Given the description of an element on the screen output the (x, y) to click on. 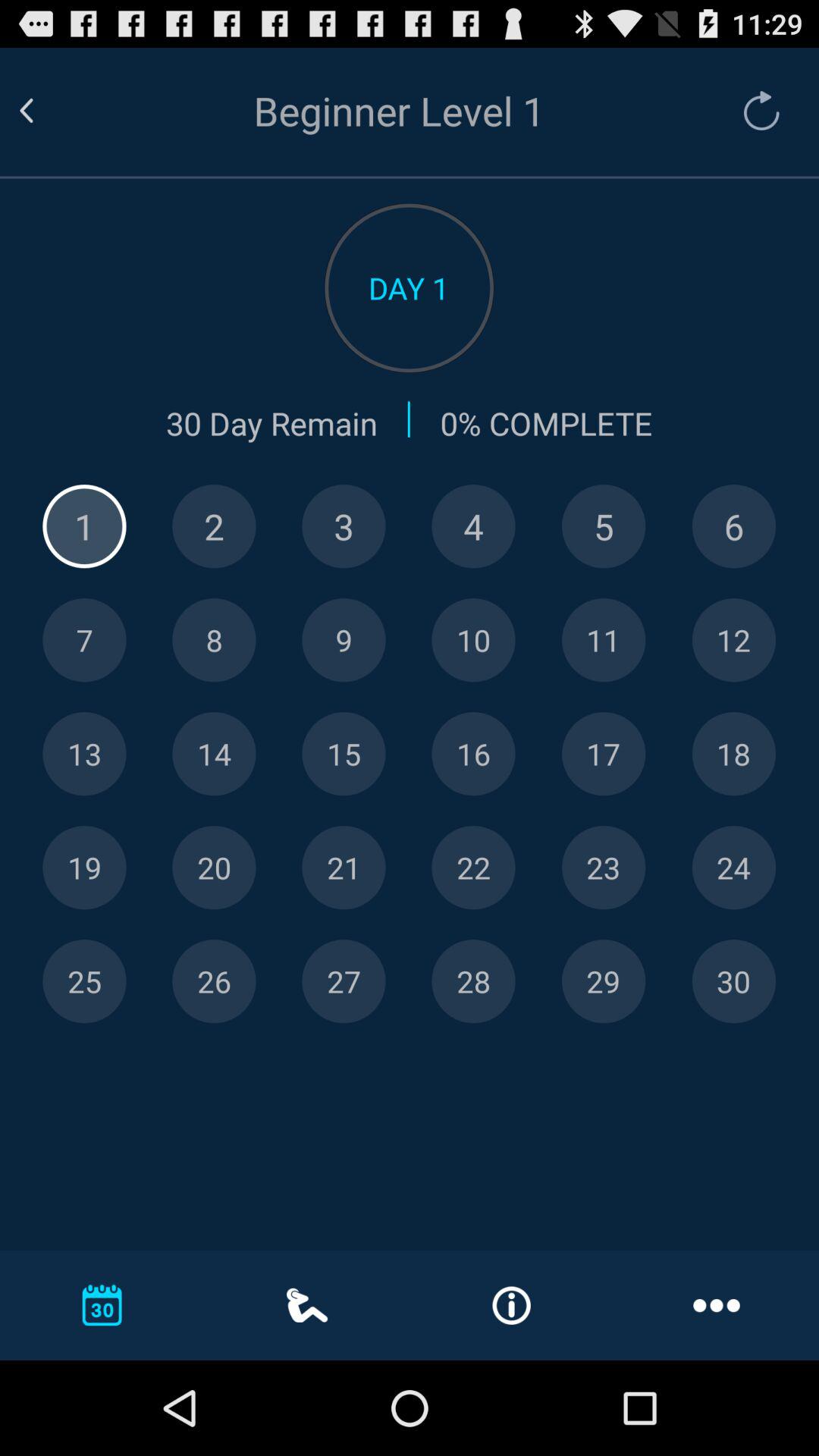
let you look at that specific day (84, 981)
